Given the description of an element on the screen output the (x, y) to click on. 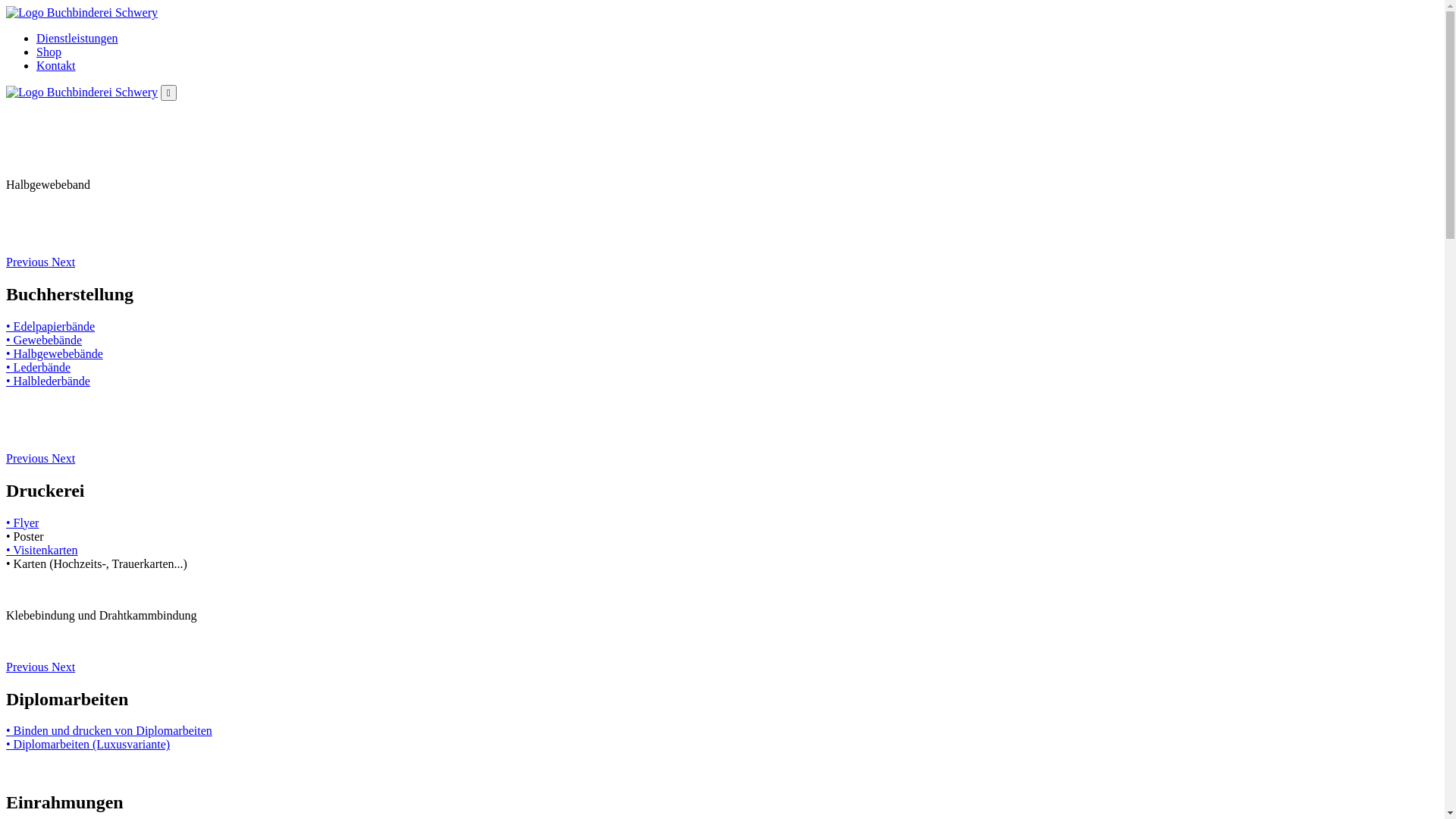
Kontakt Element type: text (55, 65)
Next Element type: text (63, 261)
Shop Element type: text (48, 51)
Previous Element type: text (28, 666)
Previous Element type: text (28, 261)
Dienstleistungen Element type: text (77, 37)
Next Element type: text (63, 666)
Previous Element type: text (28, 457)
Next Element type: text (63, 457)
